Given the description of an element on the screen output the (x, y) to click on. 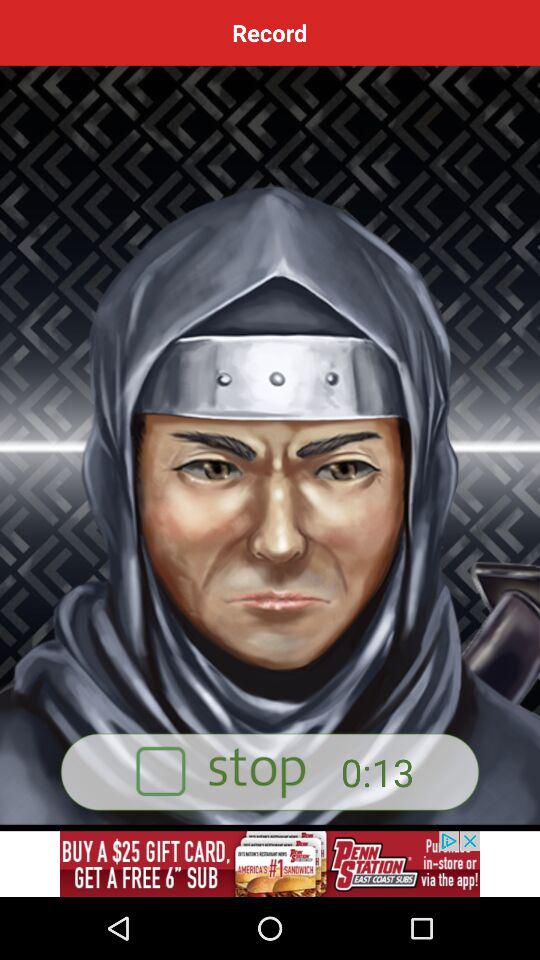
advertisement (270, 771)
